Given the description of an element on the screen output the (x, y) to click on. 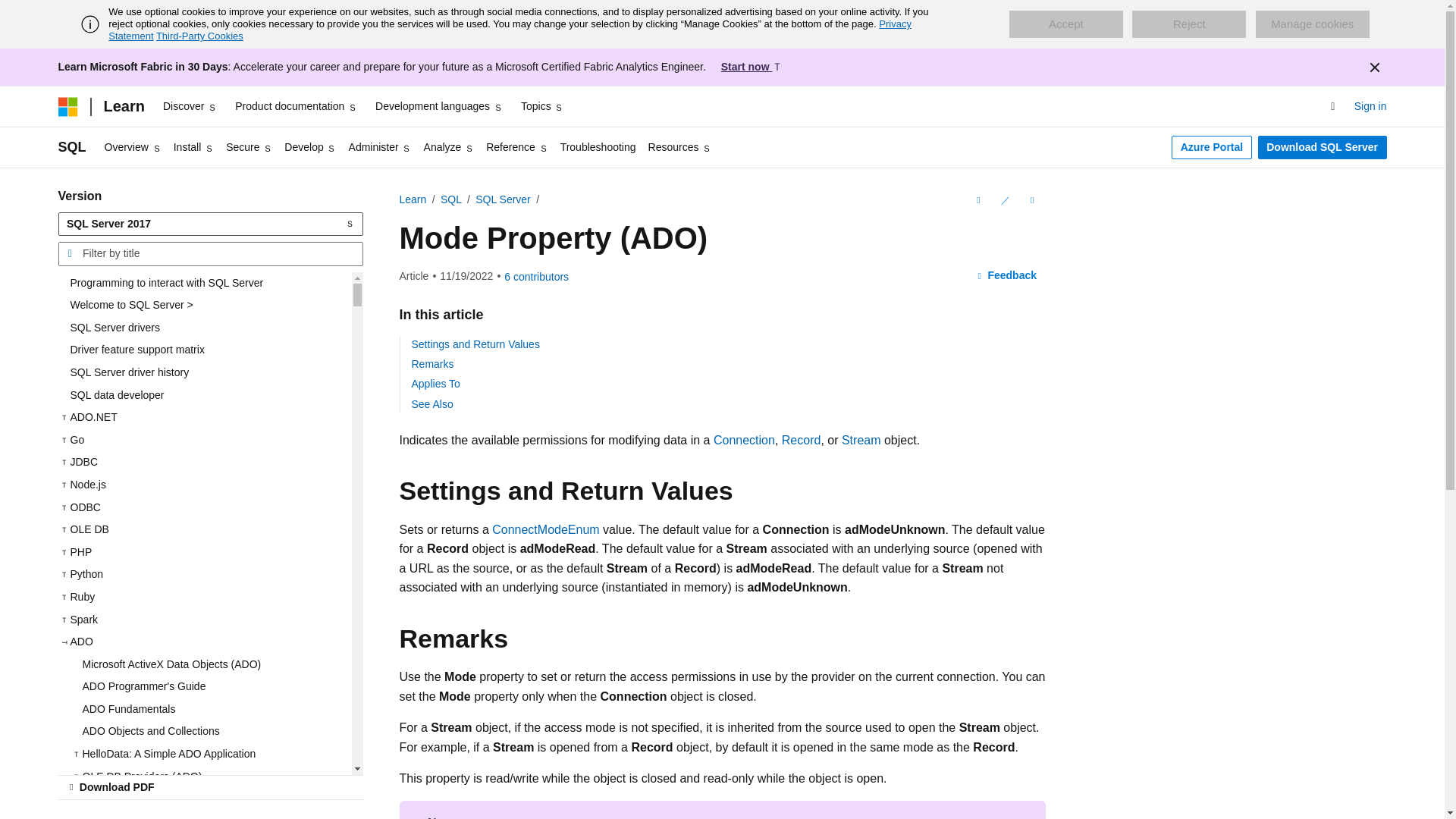
More actions (1031, 200)
Accept (1065, 23)
Edit This Document (1004, 200)
Privacy Statement (509, 29)
Sign in (1370, 107)
Start now (751, 66)
View all contributors (536, 276)
Learn (123, 106)
Skip to main content (11, 11)
Reject (1189, 23)
